Given the description of an element on the screen output the (x, y) to click on. 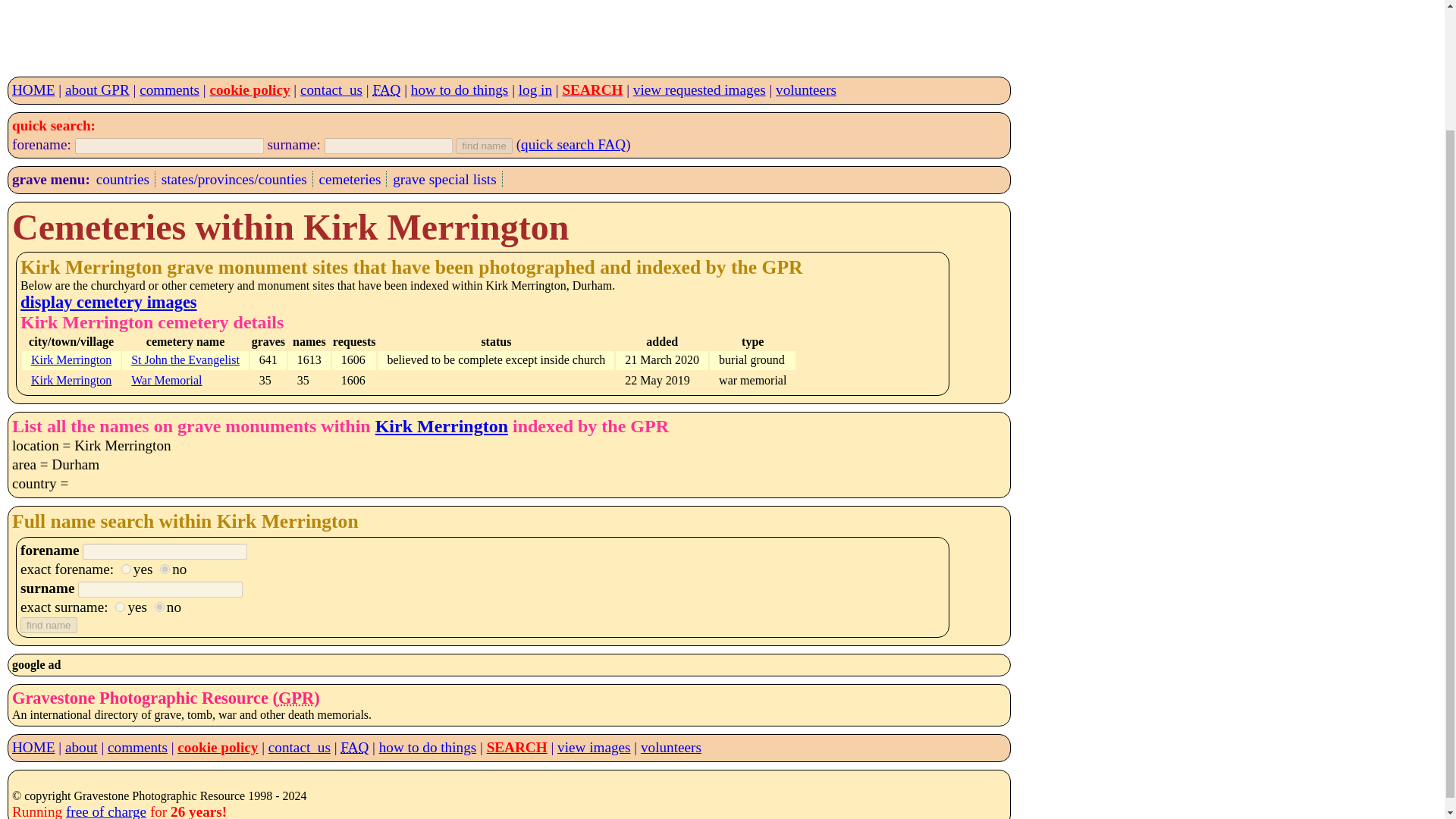
SEARCH (592, 89)
no (159, 606)
display cemetery images (108, 302)
view images (593, 747)
cookie policy (249, 89)
volunteers (670, 747)
cemeteries (349, 179)
SEARCH (516, 747)
Frequently Asked Questions (386, 89)
find name (483, 145)
